Given the description of an element on the screen output the (x, y) to click on. 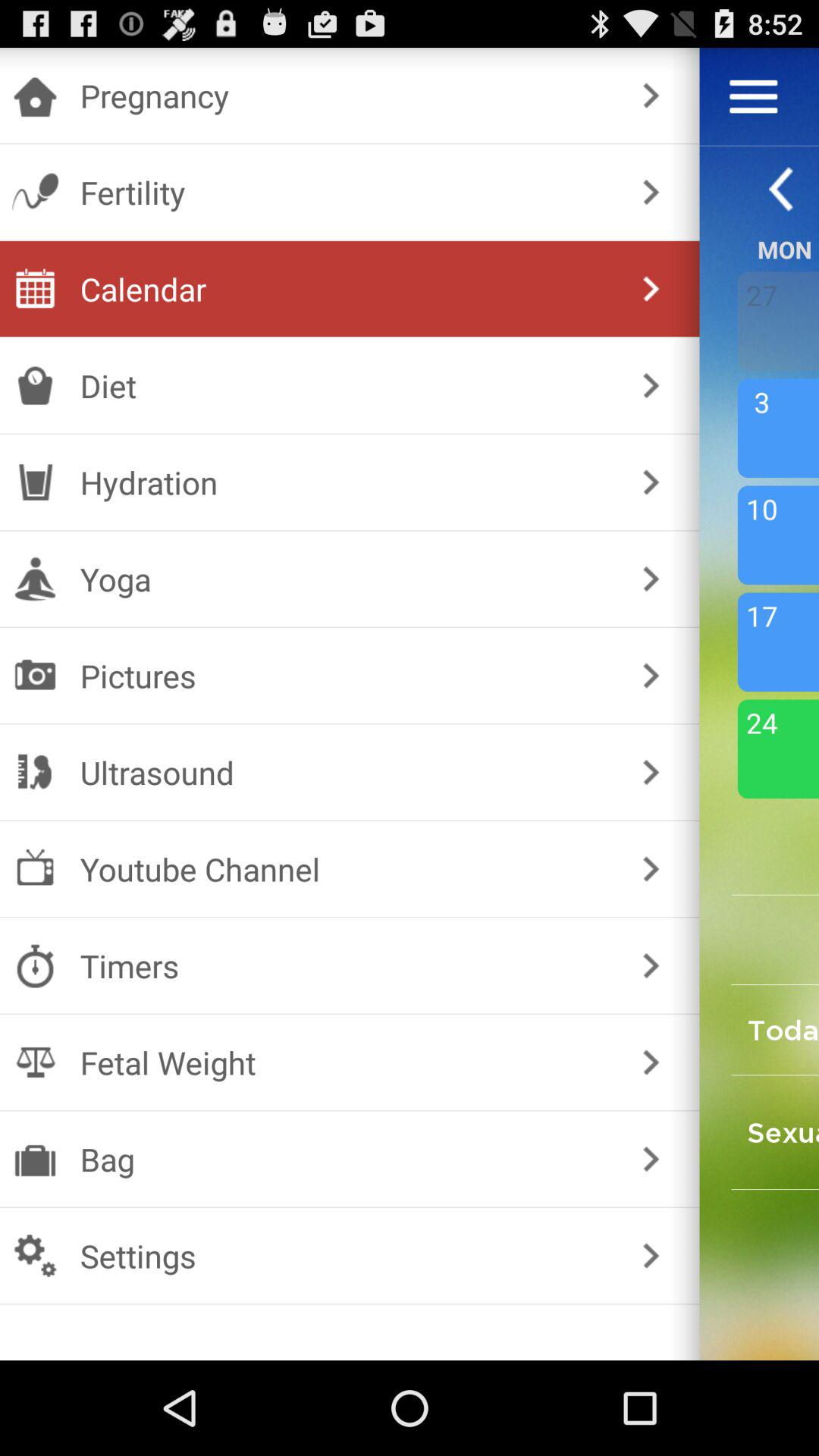
close menu (753, 96)
